Given the description of an element on the screen output the (x, y) to click on. 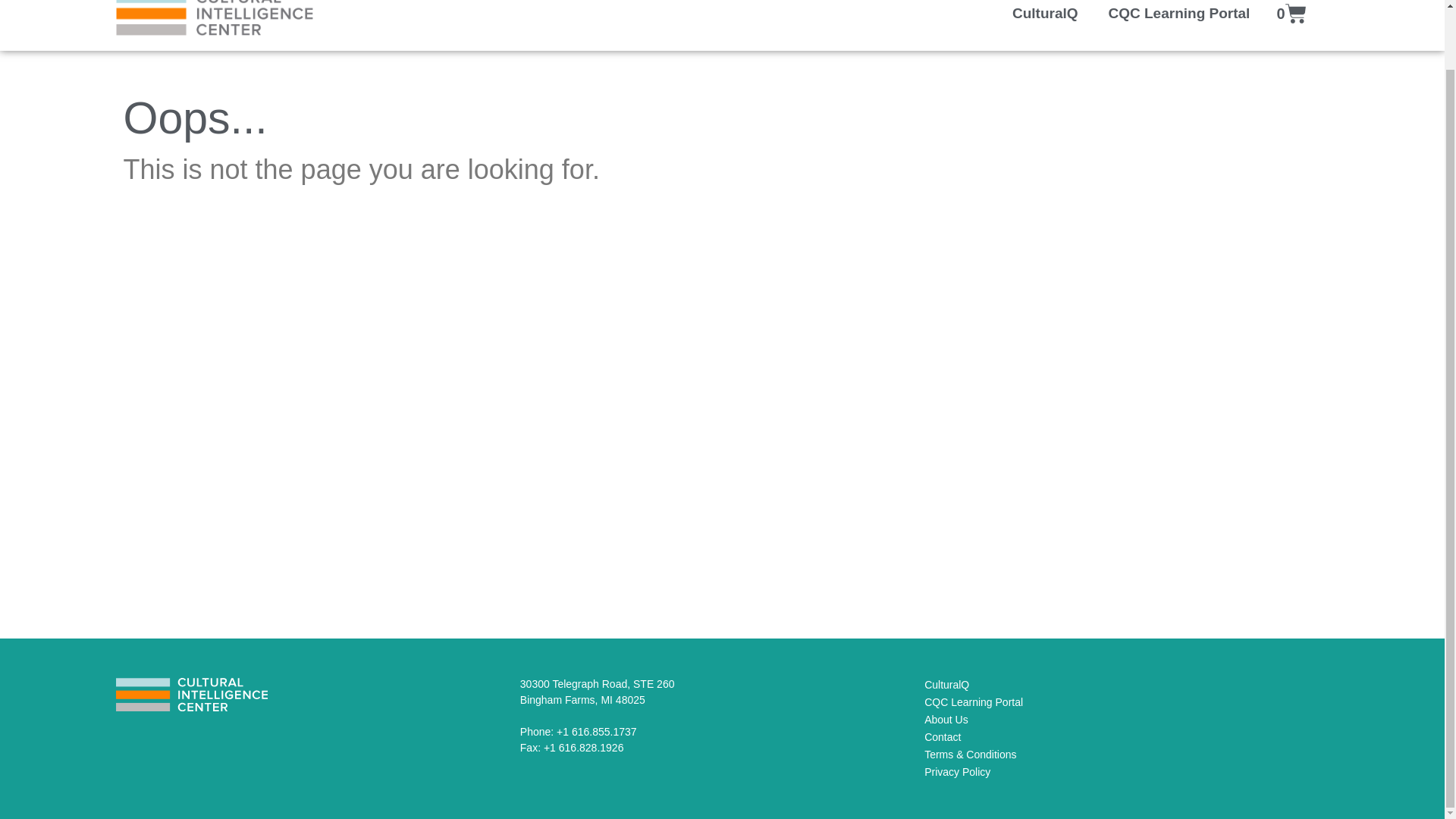
About Us (946, 719)
CulturalQ (1045, 16)
0 (597, 691)
CQC Learning Portal (1291, 13)
Contact (973, 702)
Privacy Policy (942, 736)
CQC Learning Portal (957, 771)
CulturalQ (1179, 16)
